Given the description of an element on the screen output the (x, y) to click on. 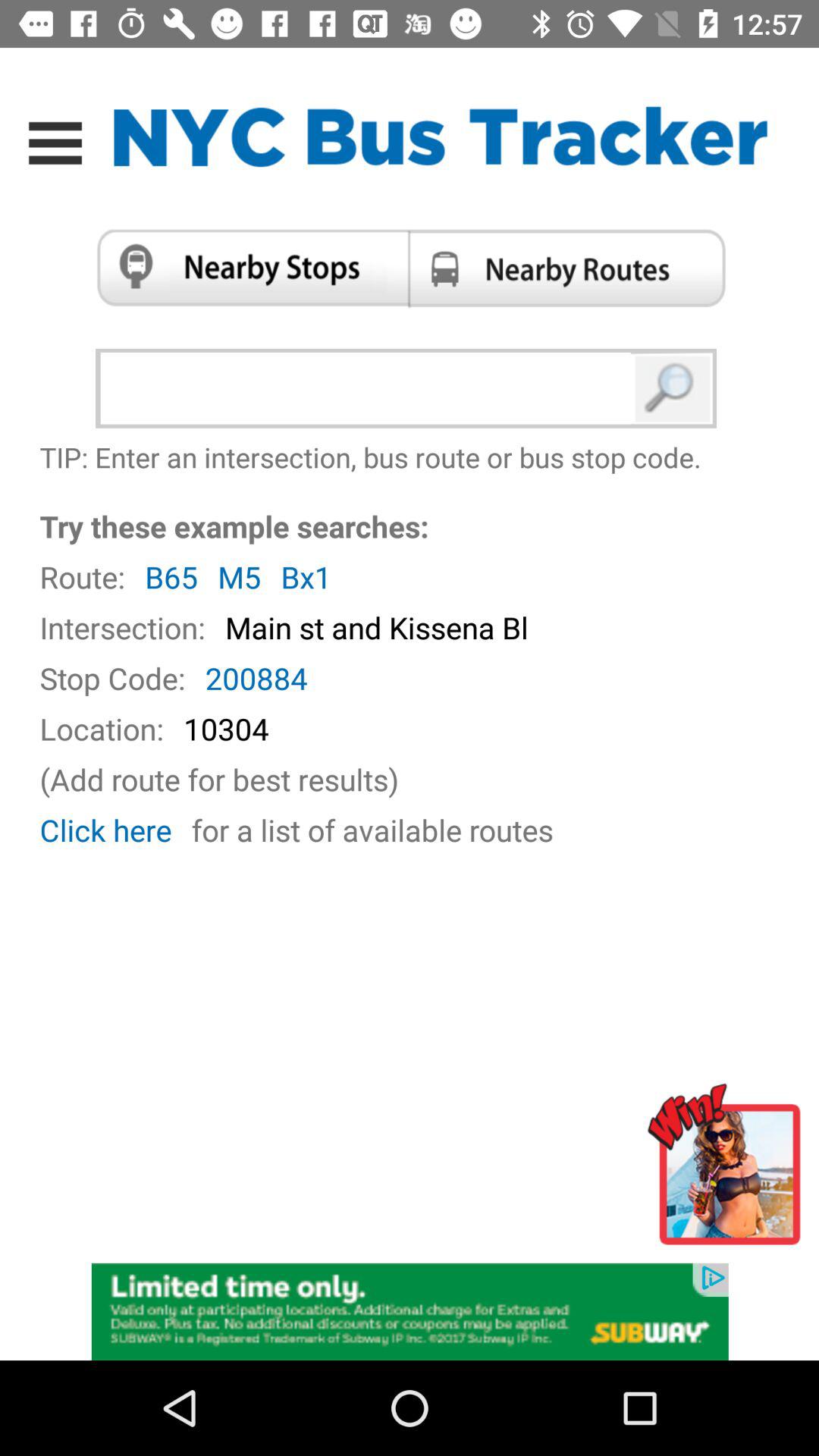
search (673, 388)
